Given the description of an element on the screen output the (x, y) to click on. 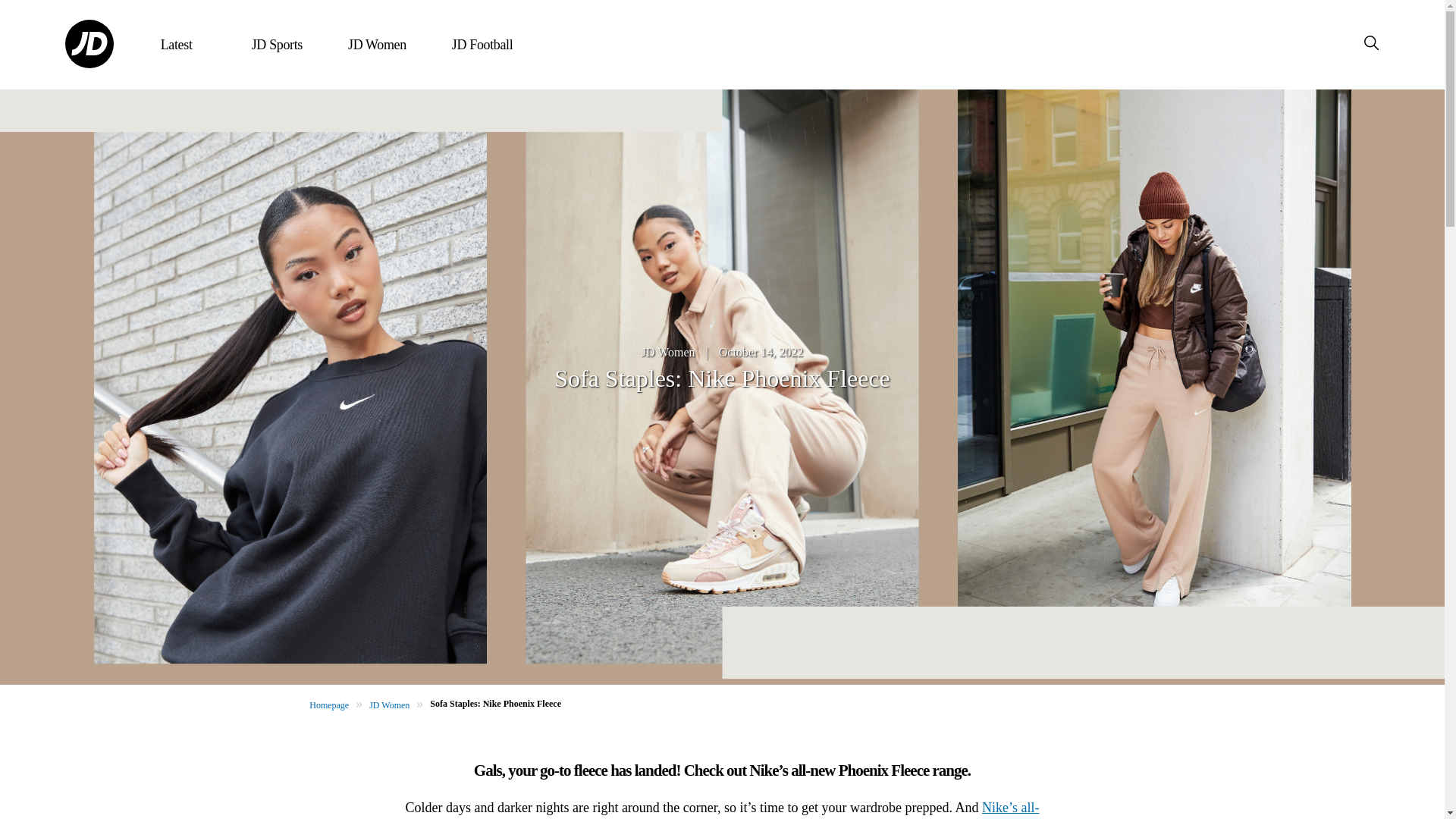
Homepage (328, 705)
JD Women (668, 351)
JD Women (376, 44)
JD Football (482, 44)
Homepage (328, 705)
Sofa Staples: Nike Phoenix Fleece (494, 703)
JD Women (389, 705)
